Given the description of an element on the screen output the (x, y) to click on. 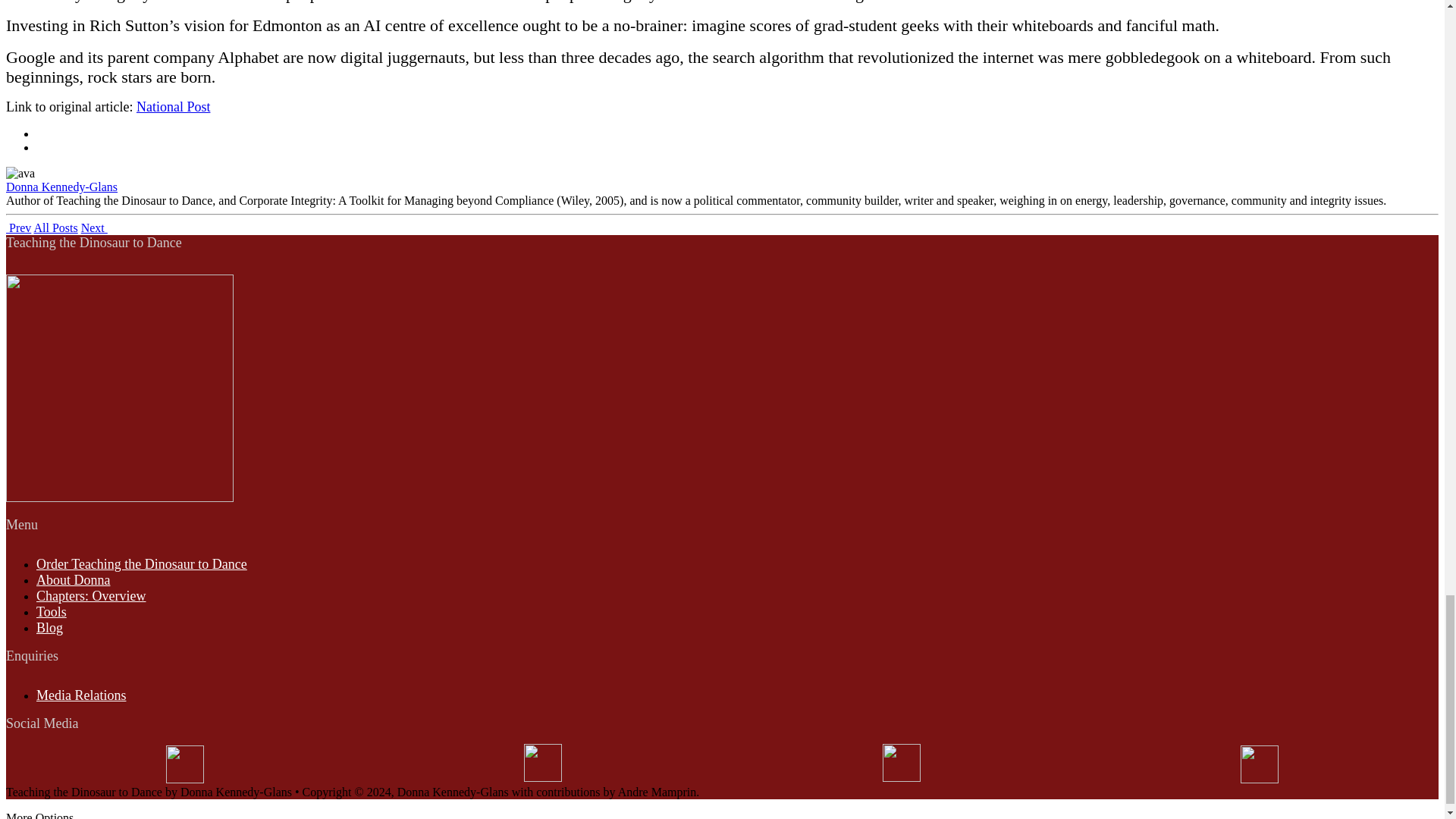
 Prev (17, 227)
Next  (94, 227)
National Post (173, 106)
Blog (49, 627)
Media Relations (80, 694)
About Donna (73, 580)
Order Teaching the Dinosaur to Dance (141, 563)
Chapters: Overview (90, 595)
Tools (51, 611)
Donna Kennedy-Glans (61, 186)
All Posts (55, 227)
